Given the description of an element on the screen output the (x, y) to click on. 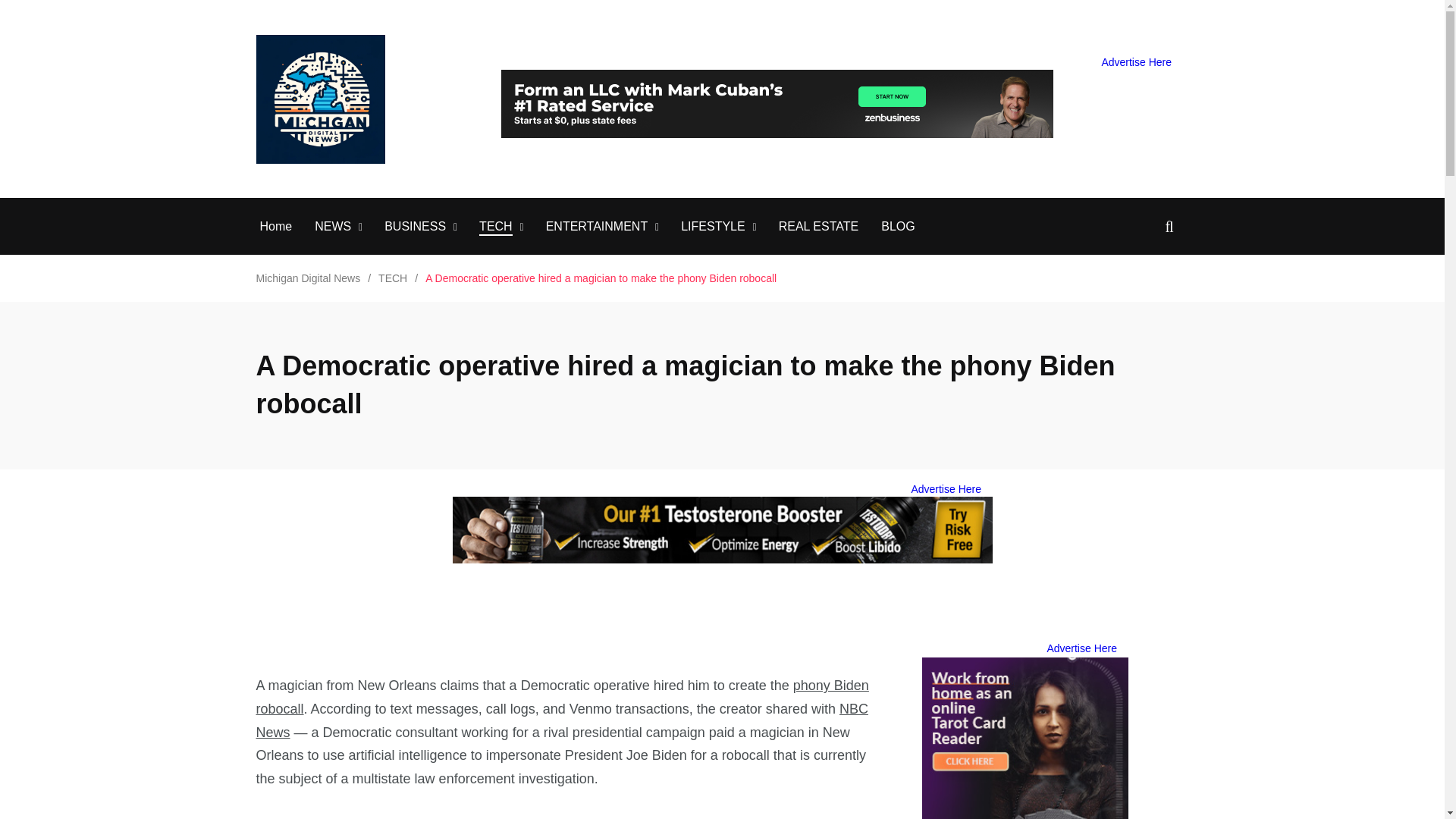
TECH (495, 226)
Home (275, 226)
BUSINESS (414, 226)
ENTERTAINMENT (596, 226)
LIFESTYLE (712, 226)
REAL ESTATE (818, 226)
NEWS (332, 226)
Go to the TECH Category archives. (392, 277)
Go to Michigan Digital News. (308, 277)
BLOG (897, 226)
